Given the description of an element on the screen output the (x, y) to click on. 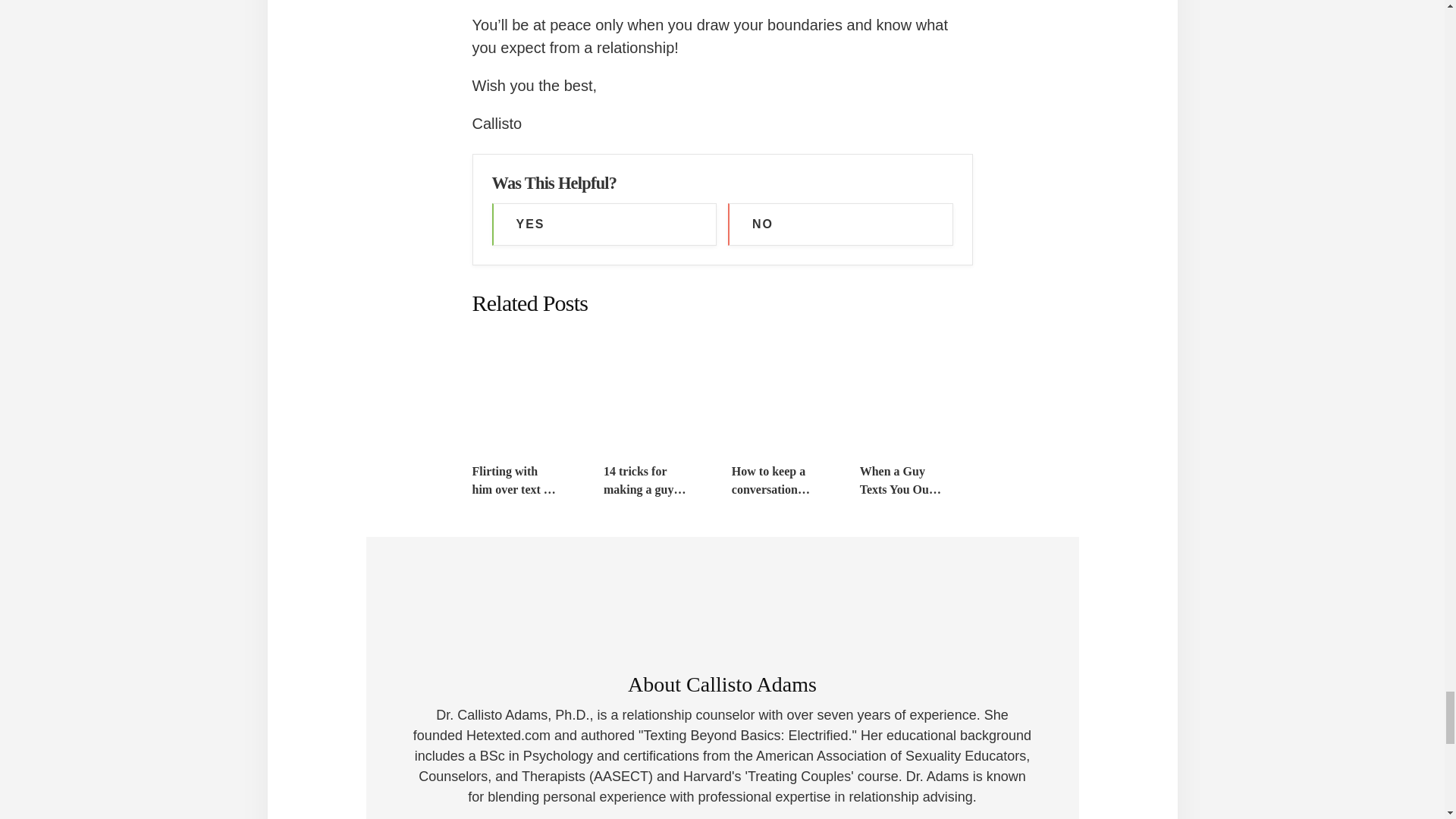
YES (604, 224)
NO (840, 224)
When a Guy Texts You Out of Nowhere - Should you reply? (901, 480)
